Given the description of an element on the screen output the (x, y) to click on. 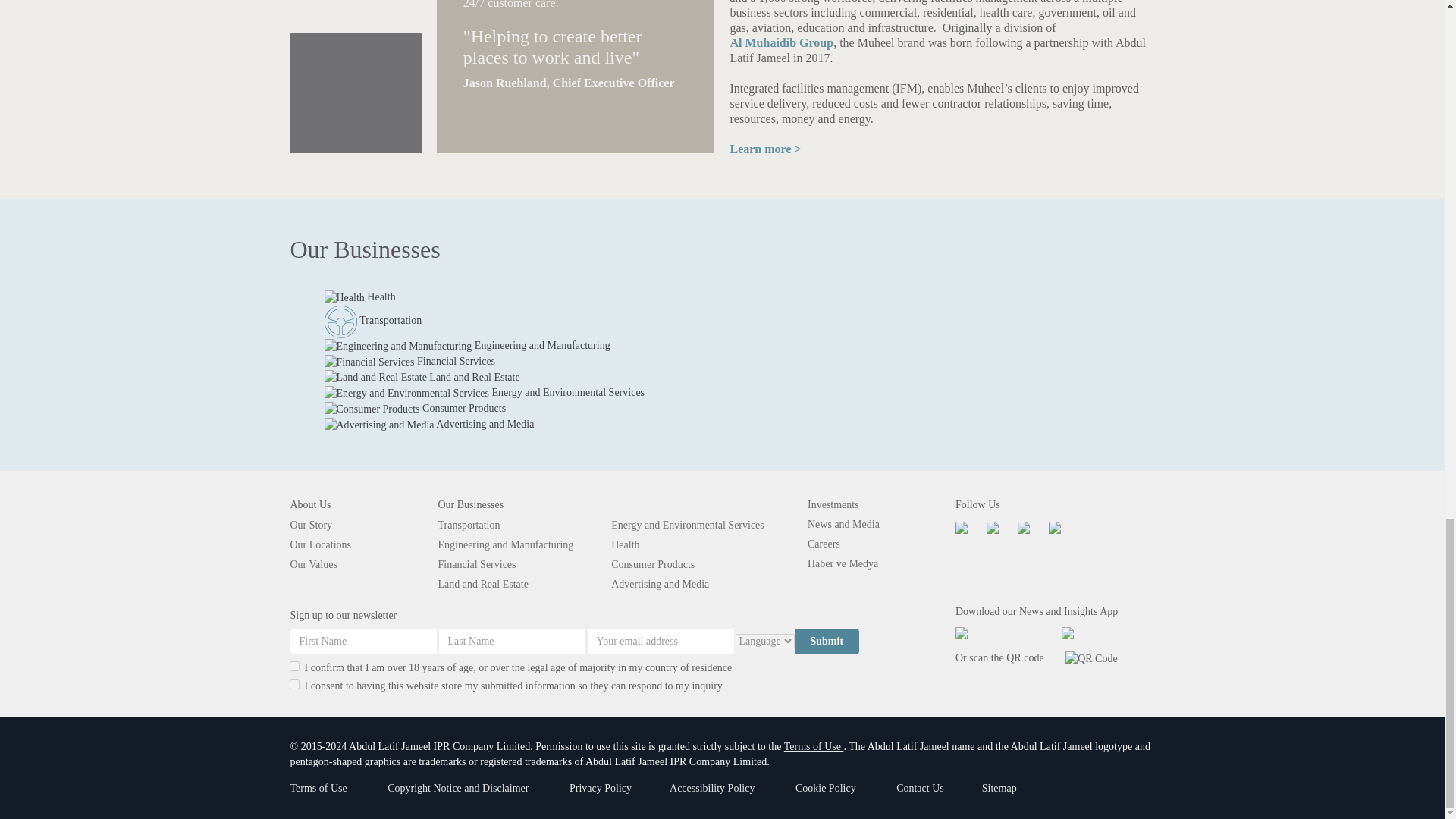
age (294, 665)
Submit (827, 641)
consent (294, 684)
